Given the description of an element on the screen output the (x, y) to click on. 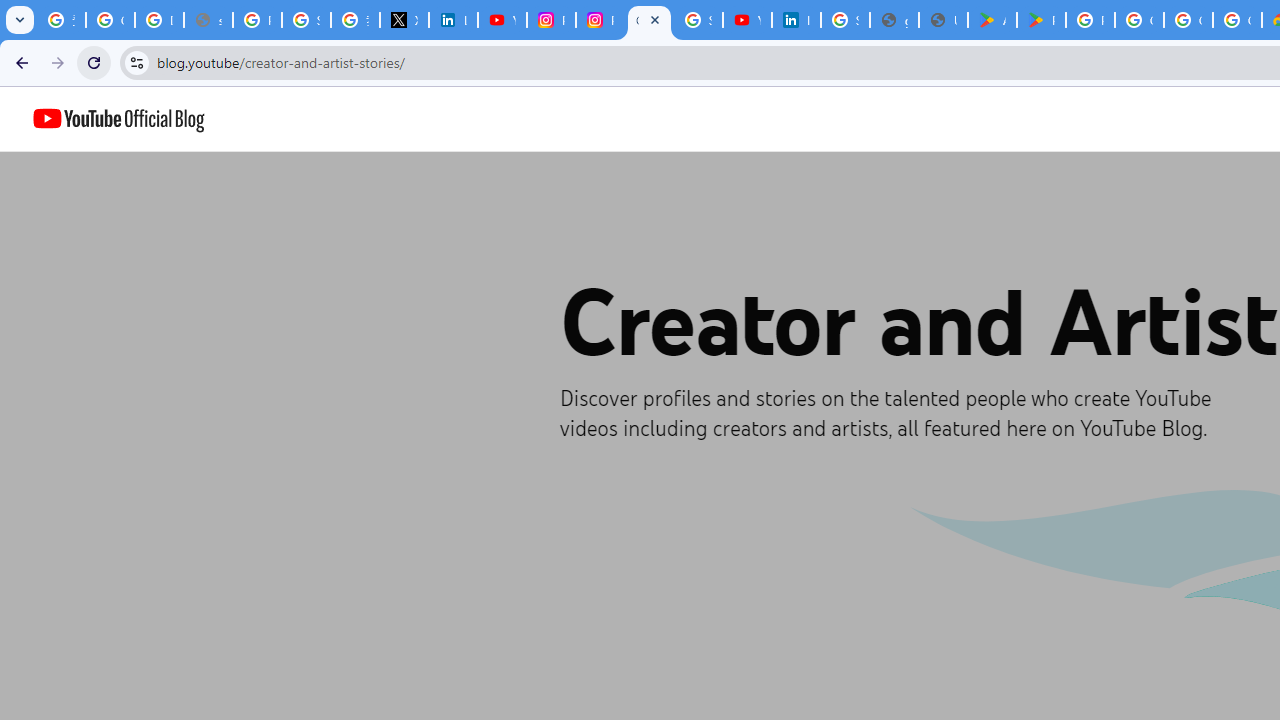
support.google.com - Network error (208, 20)
